Given the description of an element on the screen output the (x, y) to click on. 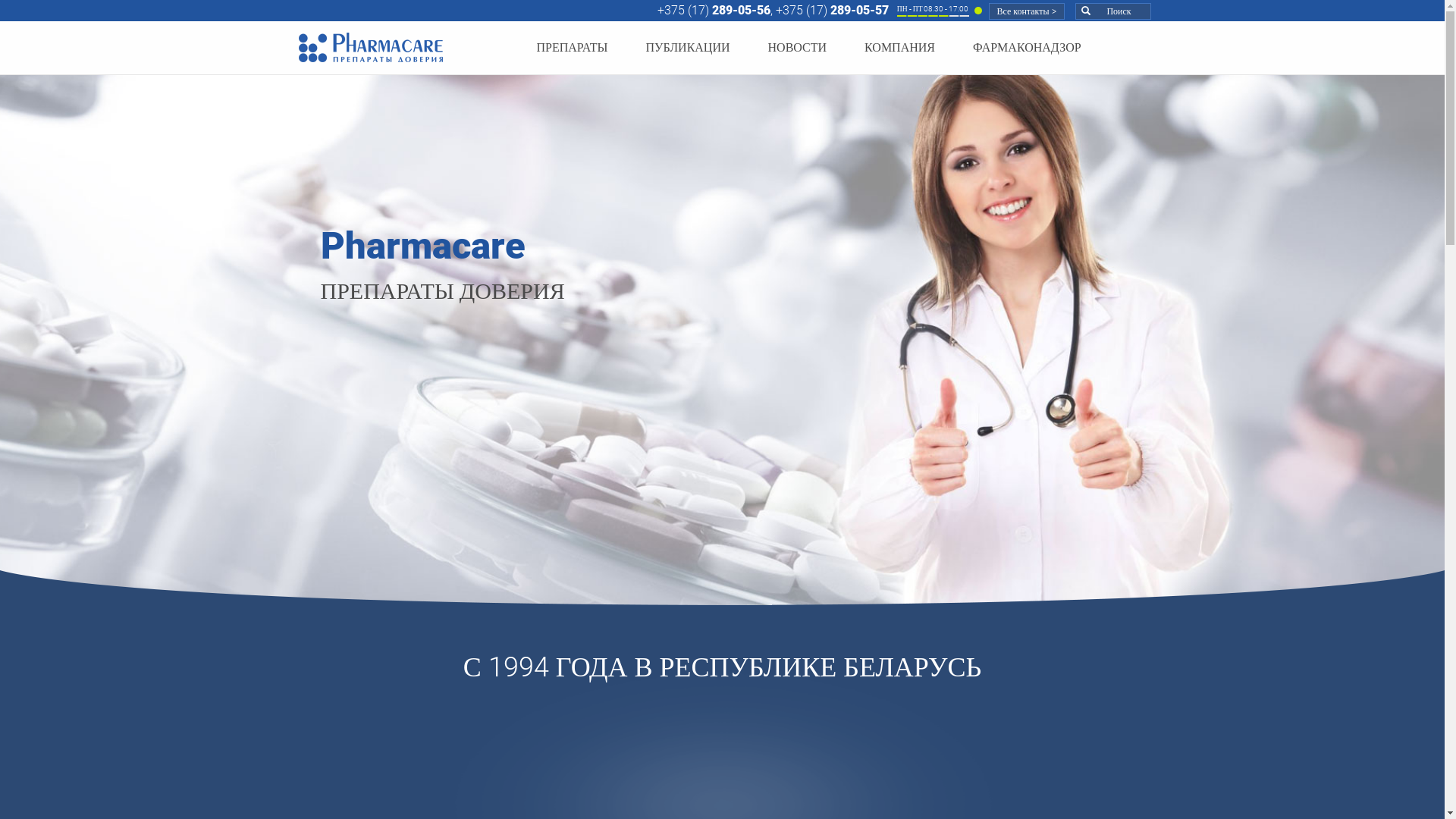
+375 (17) 289-05-57 Element type: text (831, 10)
+375 (17) 289-05-56 Element type: text (713, 10)
